Given the description of an element on the screen output the (x, y) to click on. 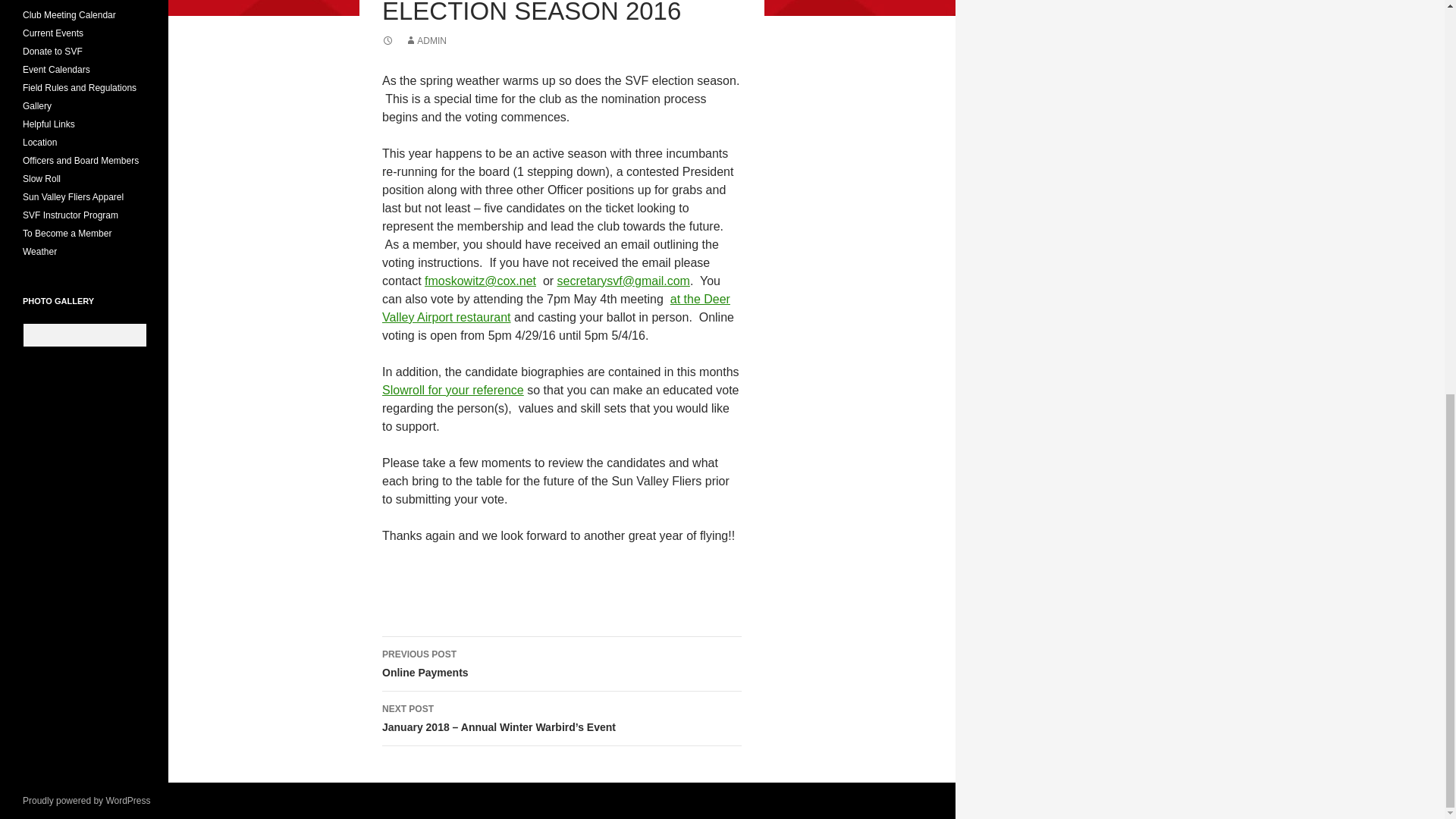
Slowroll for your reference (452, 390)
Event Calendars (561, 664)
Club Meeting Calendar (56, 69)
ADMIN (69, 14)
at the Deer Valley Airport restaurant (425, 40)
Donate to SVF (555, 307)
Gallery (52, 50)
Current Events (36, 105)
Field Rules and Regulations (52, 32)
Helpful Links (79, 87)
Arizona RC Classified Ads (49, 123)
